Given the description of an element on the screen output the (x, y) to click on. 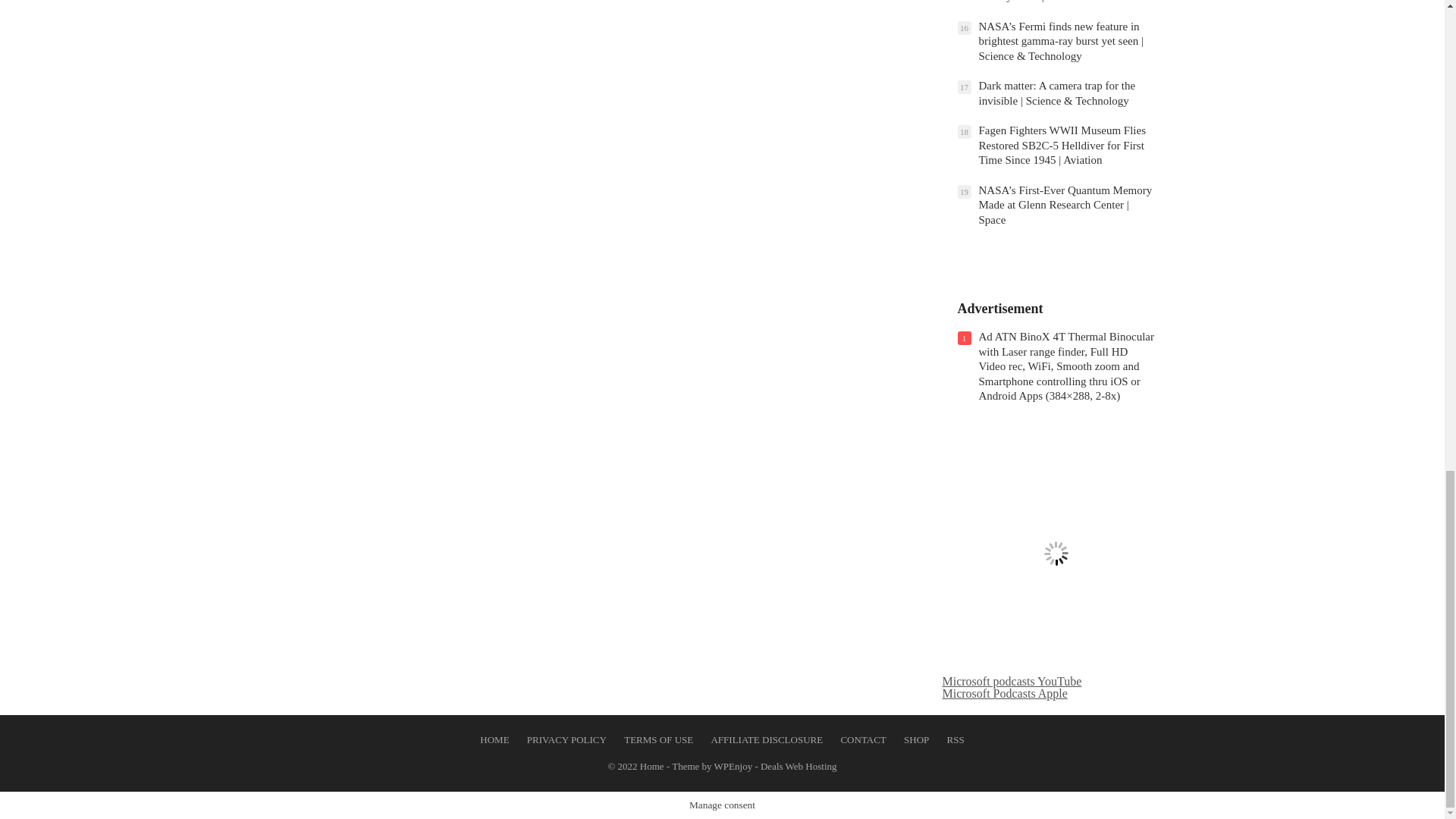
Reliable Australian Web Hosting (798, 766)
Official, ongoing Microsoft podcasts via Apple. (1004, 693)
YouTube video player (1055, 553)
Official, ongoing Microsoft podcasts via YouTube. (1011, 680)
